Given the description of an element on the screen output the (x, y) to click on. 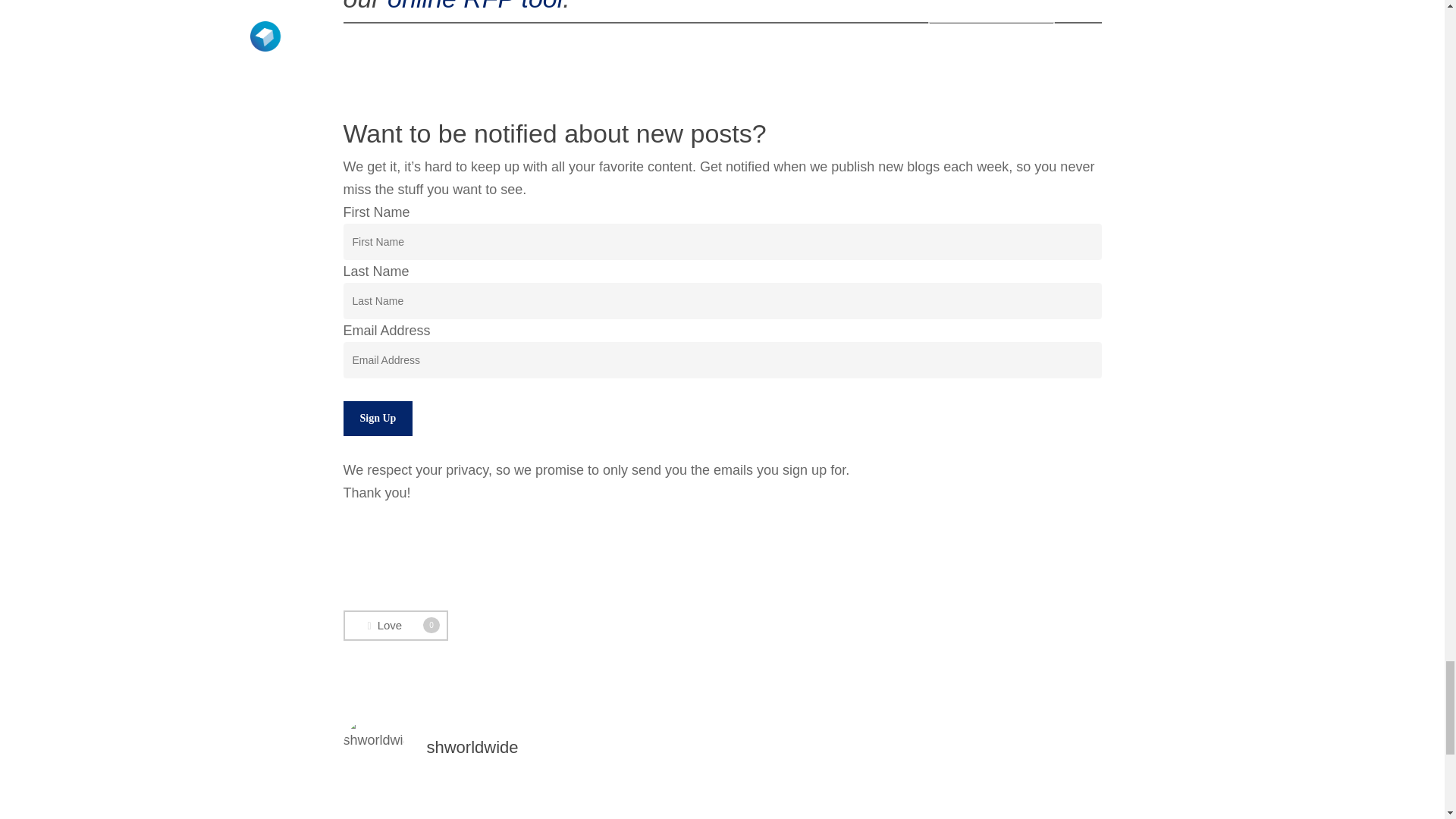
Sign Up (377, 418)
Love this (394, 625)
shworldwide (394, 625)
online RFP tool (472, 746)
